Given the description of an element on the screen output the (x, y) to click on. 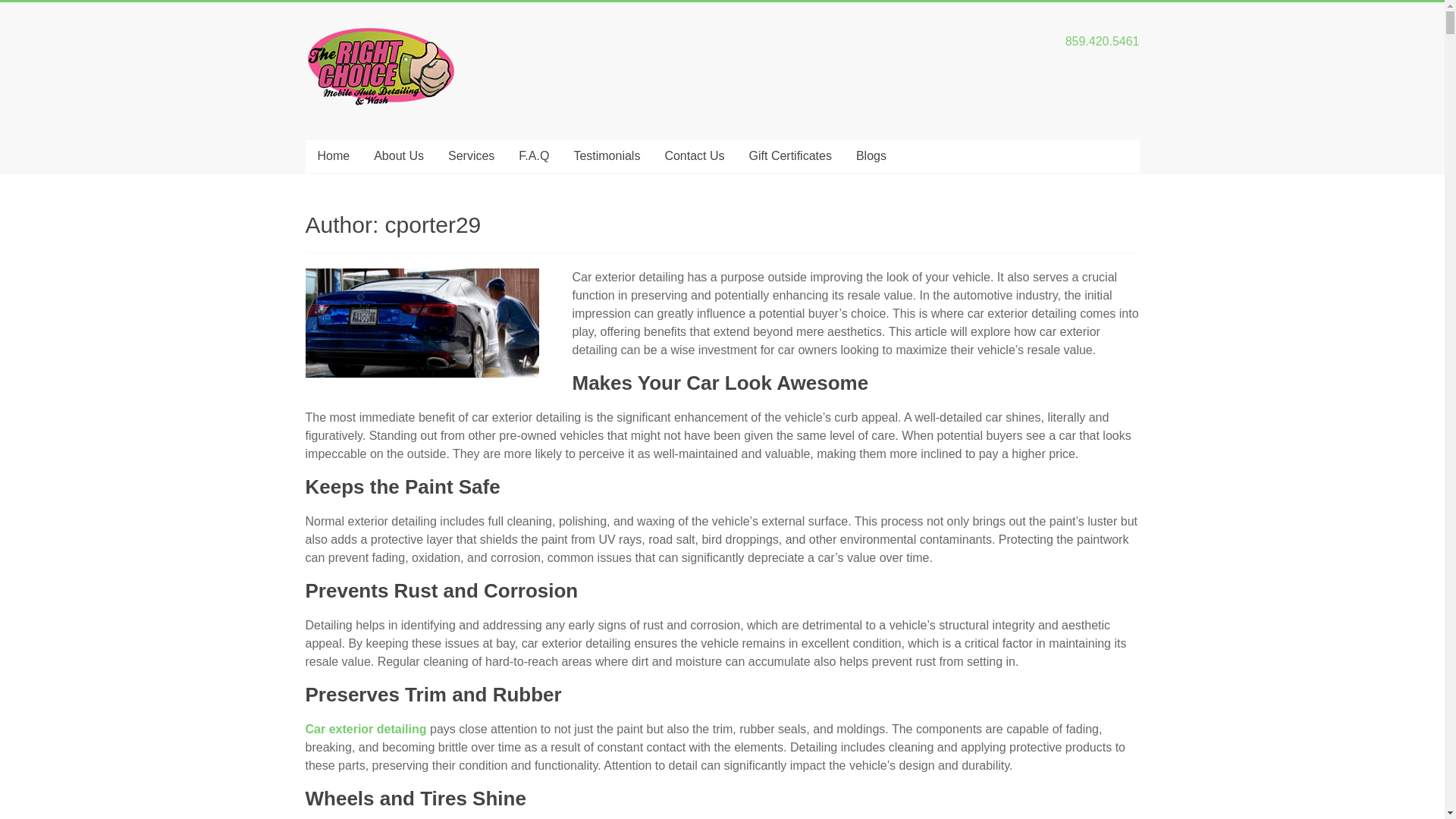
F.A.Q (533, 155)
Car exterior detailing (365, 728)
Contact Us (694, 155)
859.420.5461 (1102, 41)
Gift Certificates (790, 155)
About Us (398, 155)
Services (470, 155)
Testimonials (606, 155)
Home (332, 155)
Blogs (871, 155)
